Given the description of an element on the screen output the (x, y) to click on. 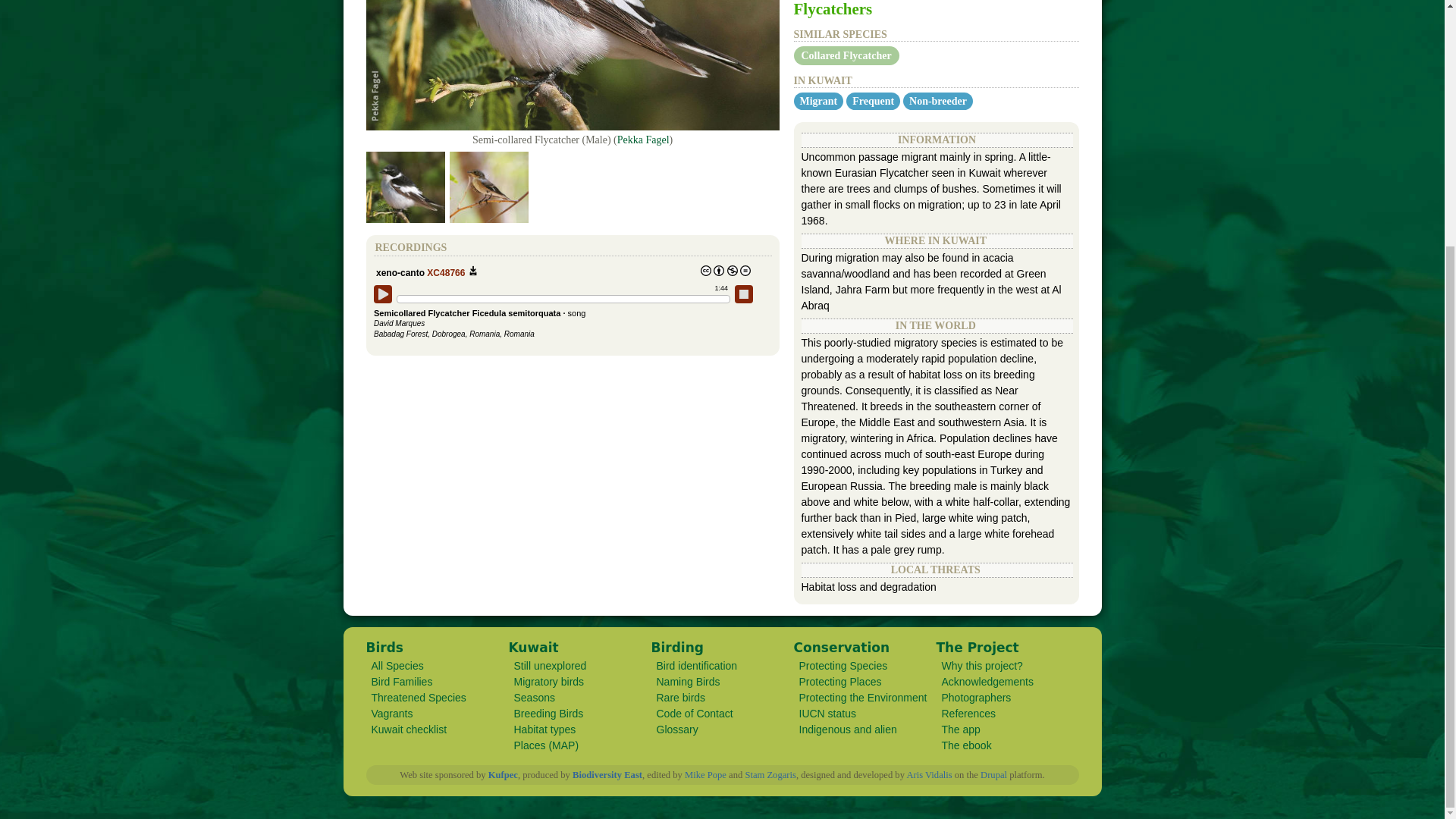
Pekka Fagel (643, 139)
